Given the description of an element on the screen output the (x, y) to click on. 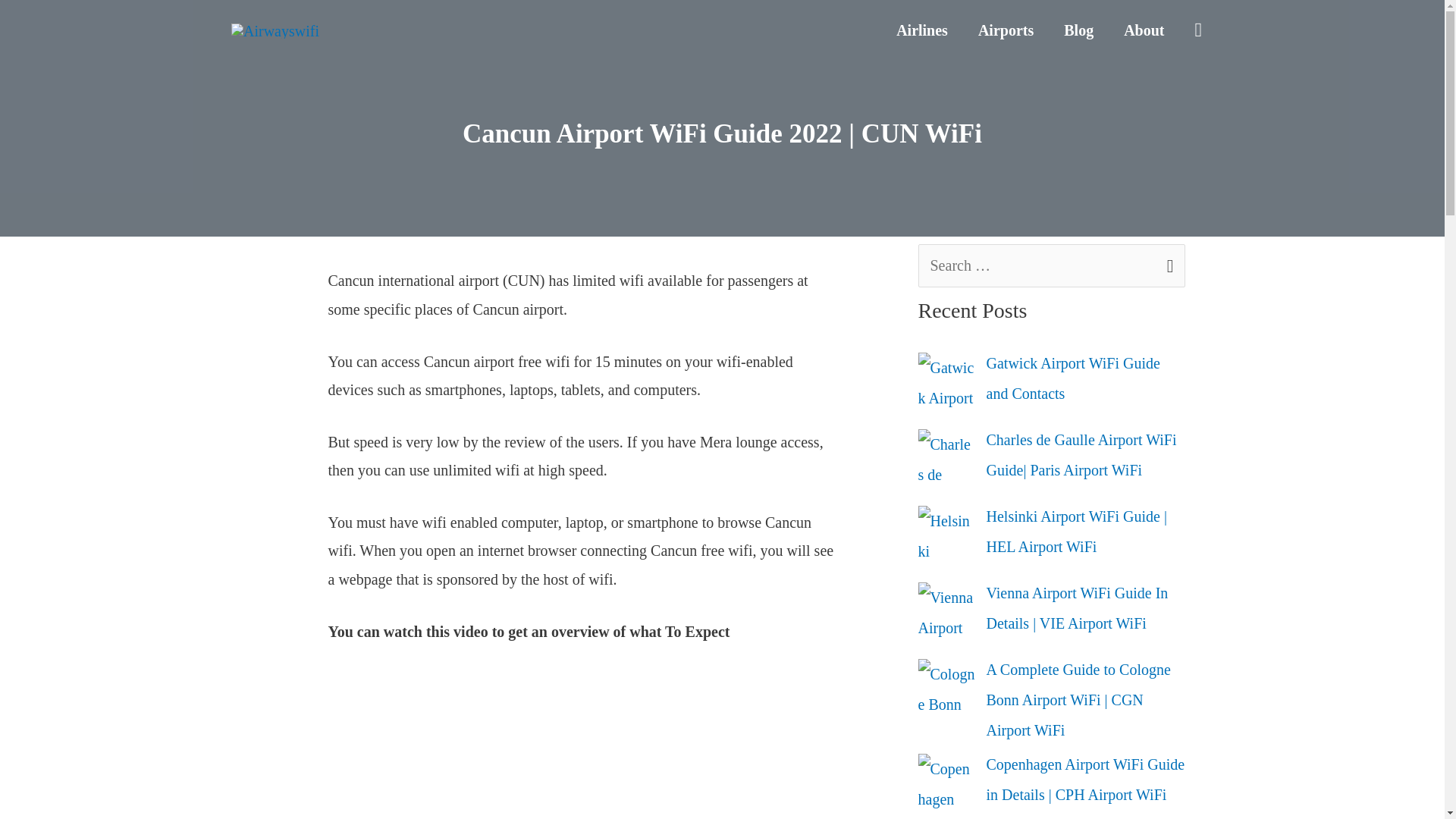
Blog (1078, 30)
Gatwick Airport WiFi Guide and Contacts (1071, 378)
About (1143, 30)
Cancun Airport What To Expect (584, 744)
Airlines (921, 30)
Airports (1005, 30)
